Given the description of an element on the screen output the (x, y) to click on. 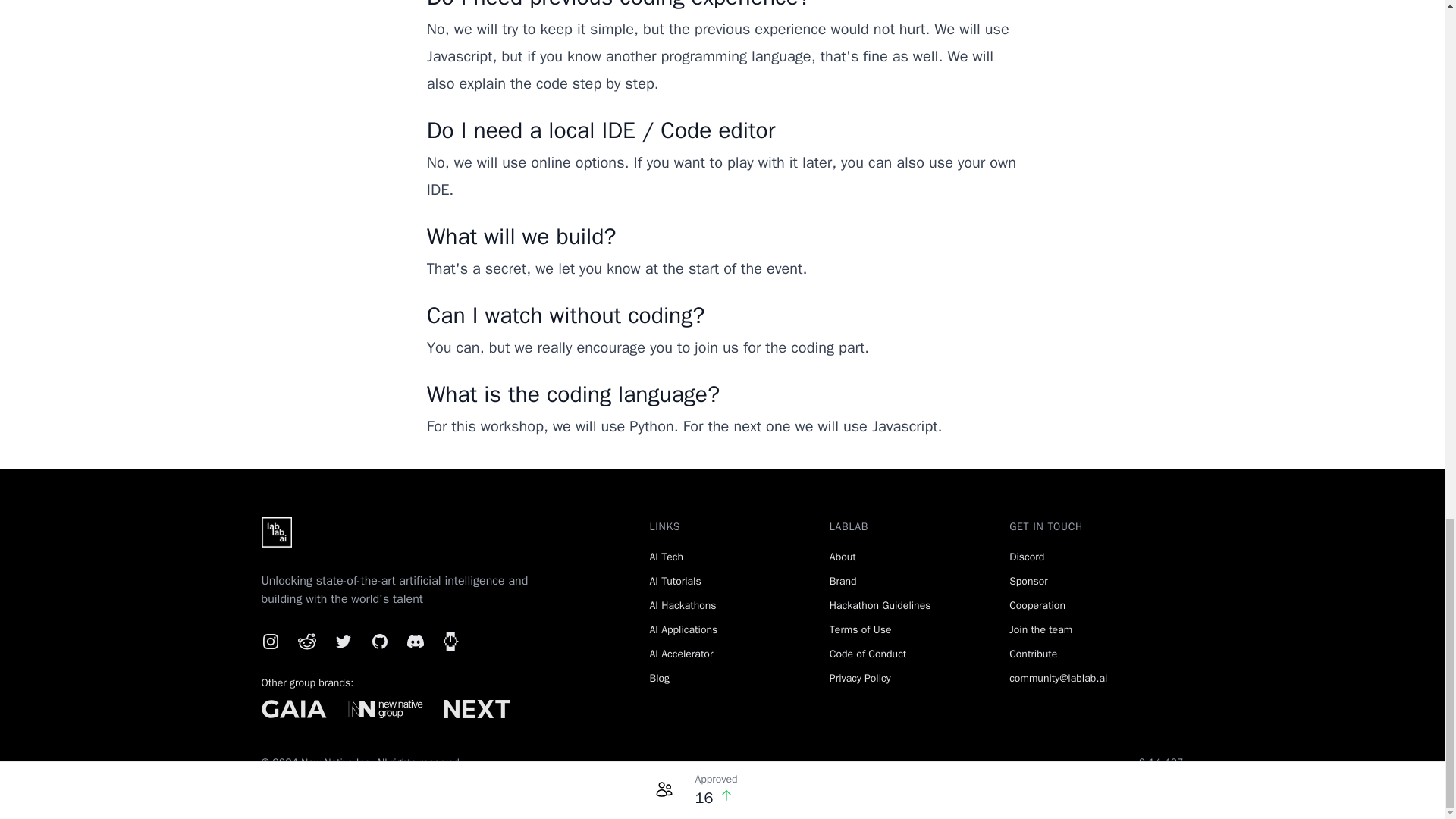
Code of Conduct (868, 653)
About (842, 556)
Privacy Policy (860, 677)
AI Hackathons (682, 604)
Twitter (342, 641)
HackerNoon (450, 641)
GitHub (378, 641)
Instagram (269, 641)
AI Accelerator (681, 653)
AI Tech (665, 556)
